Given the description of an element on the screen output the (x, y) to click on. 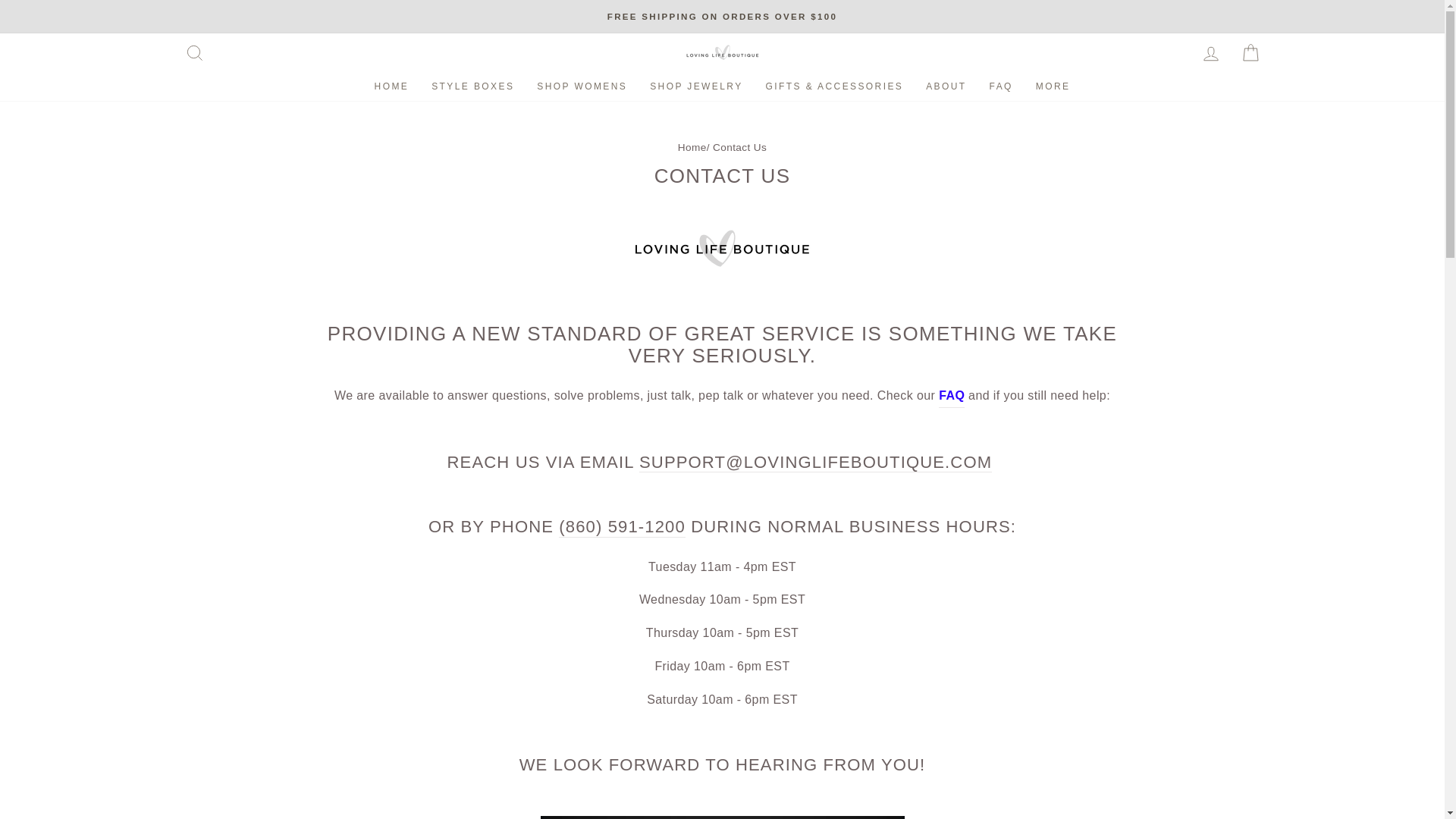
Back to the frontpage (692, 147)
FAQ (951, 395)
